Given the description of an element on the screen output the (x, y) to click on. 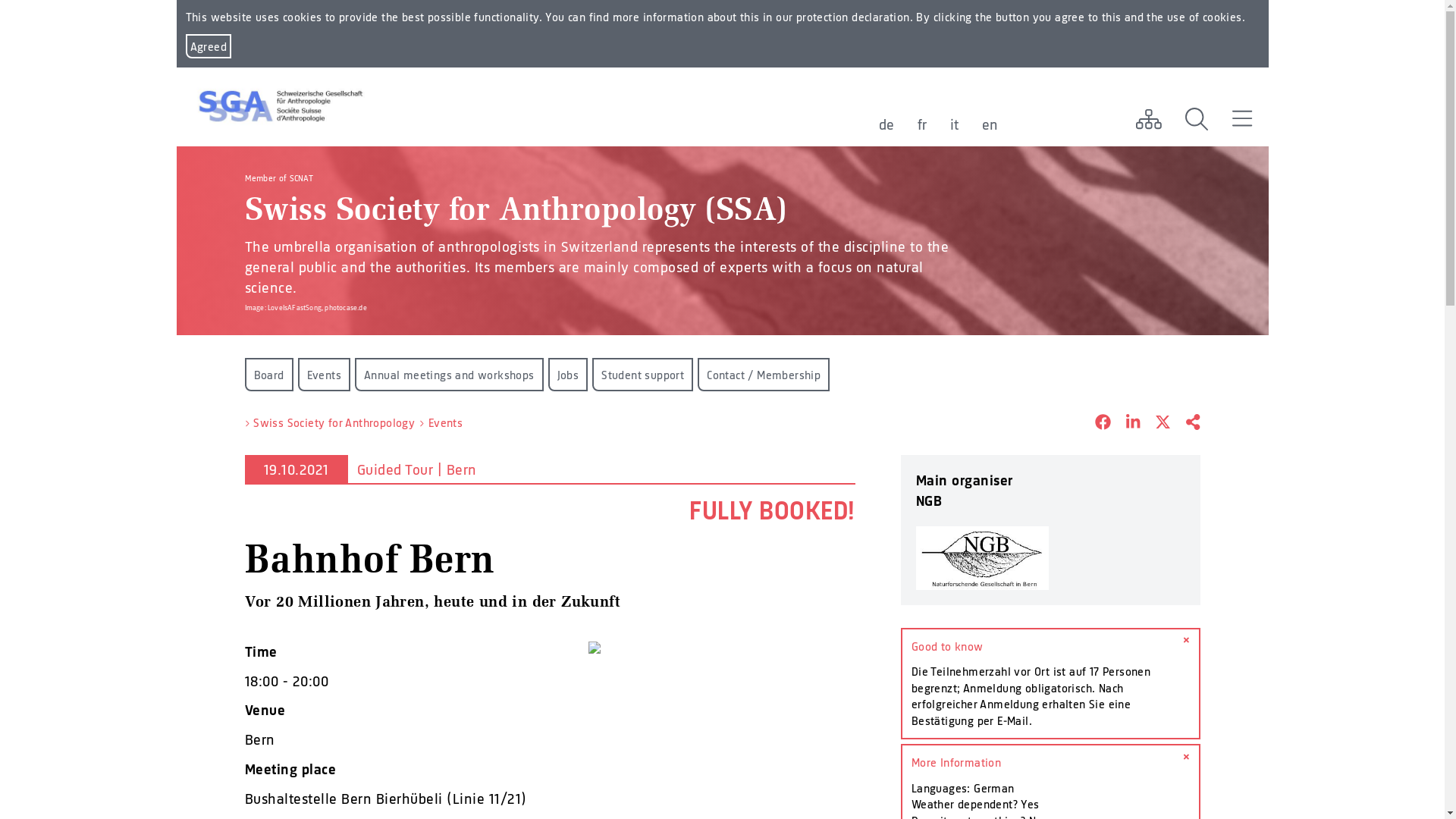
en Element type: text (989, 124)
Events Element type: text (323, 374)
Agreed Element type: text (207, 46)
Good to know Element type: text (1050, 646)
More Information Element type: text (1050, 762)
Board Element type: text (268, 374)
Share as short link Element type: hover (1184, 422)
Events Element type: text (445, 422)
it Element type: text (953, 124)
Annual meetings and workshops Element type: text (449, 374)
Share on Facebook Element type: hover (1094, 422)
Share on LinkedIn Element type: hover (1124, 422)
de Element type: text (886, 124)
Main organiser
NGB Element type: text (1050, 530)
Search Element type: hover (1196, 118)
Network Element type: hover (1147, 118)
Student support Element type: text (642, 374)
fr Element type: text (922, 124)
protection declaration Element type: text (853, 16)
Menu Element type: hover (1241, 118)
Member of SCNAT Element type: text (278, 177)
Swiss Society for Anthropology Element type: text (333, 422)
Contact / Membership Element type: text (763, 374)
Share on X Element type: hover (1154, 422)
Jobs Element type: text (567, 374)
Swiss Society for Anthropology (SSA) Element type: text (515, 214)
